Given the description of an element on the screen output the (x, y) to click on. 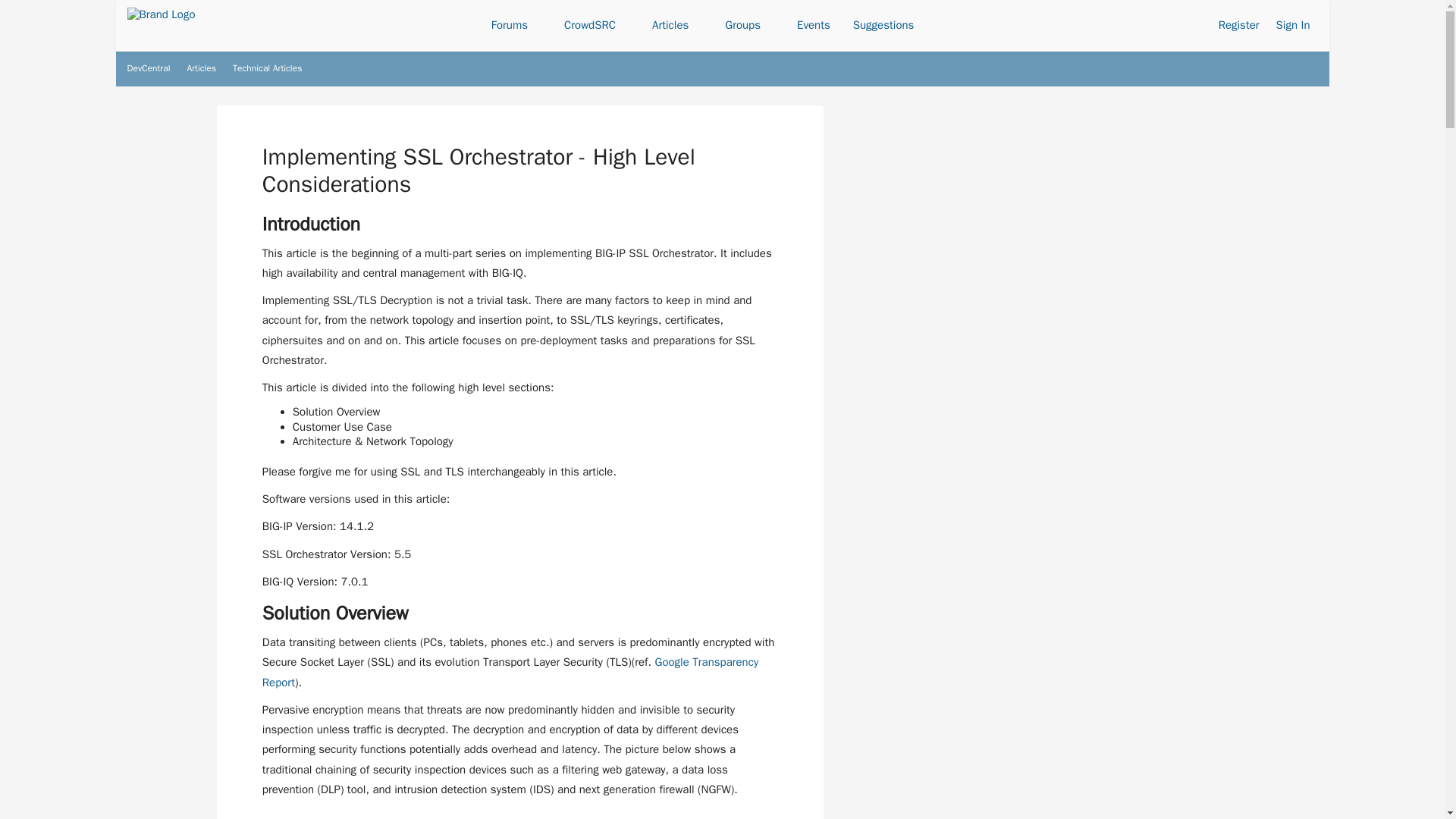
Groups (749, 25)
Events (813, 25)
Technical Articles (266, 68)
Google Transparency Report (510, 671)
Articles (677, 25)
Skip to content (180, 54)
DevCentral (149, 68)
CrowdSRC (596, 25)
Suggestions (883, 25)
Articles (201, 68)
